Given the description of an element on the screen output the (x, y) to click on. 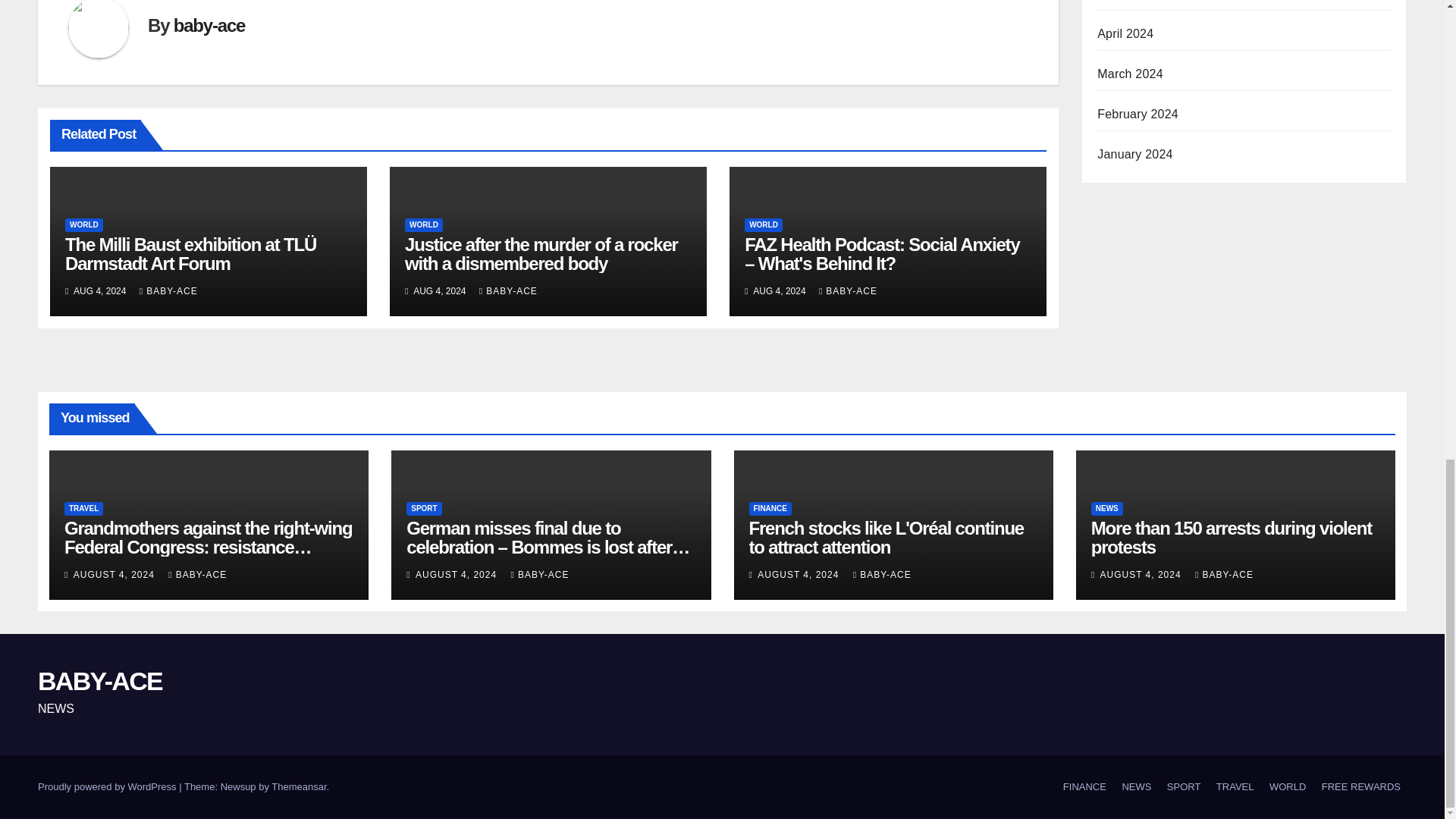
WORLD (423, 224)
WORLD (763, 224)
WORLD (84, 224)
BABY-ACE (168, 290)
BABY-ACE (508, 290)
baby-ace (208, 25)
Justice after the murder of a rocker with a dismembered body (541, 253)
